Given the description of an element on the screen output the (x, y) to click on. 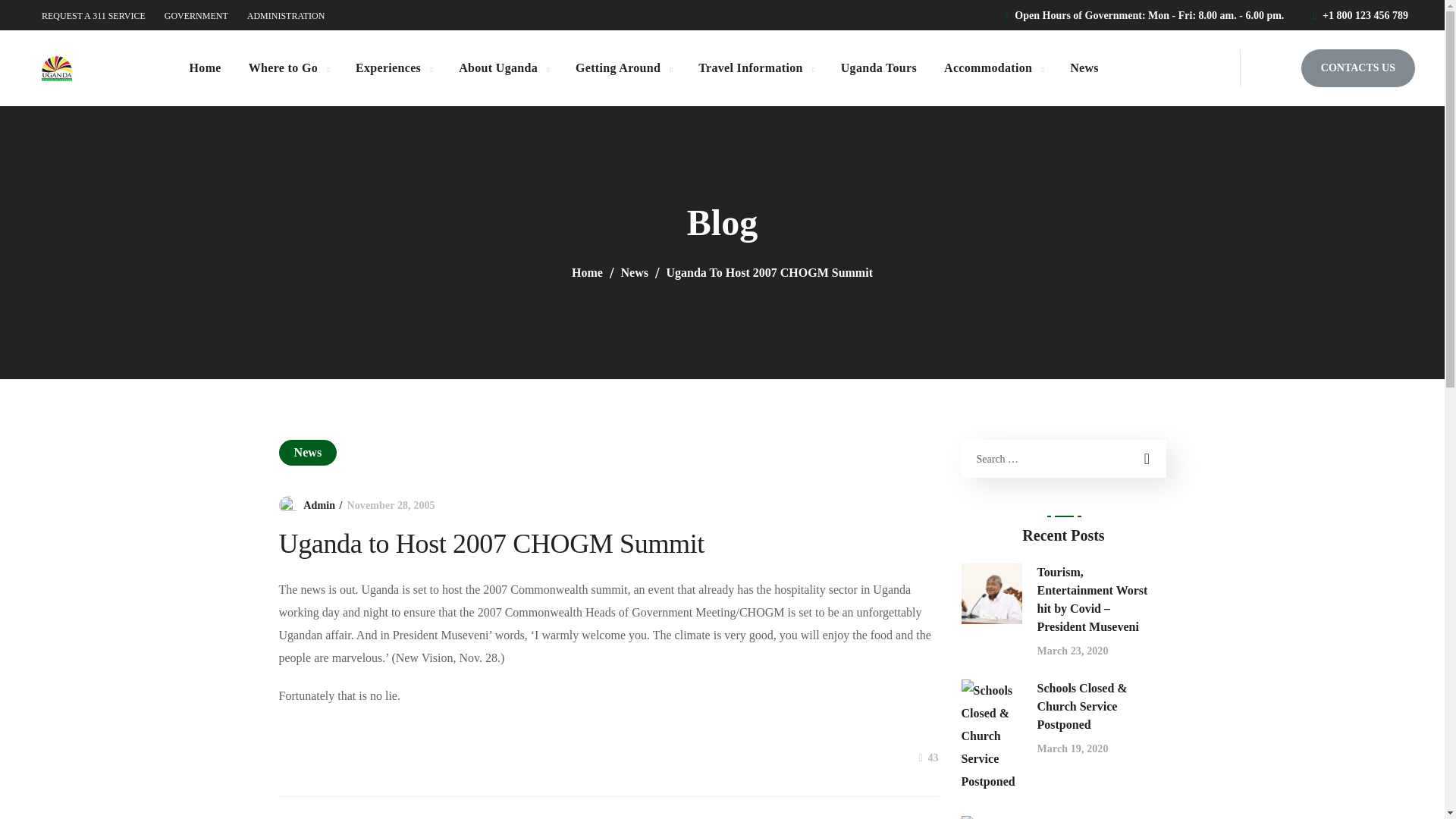
REQUEST A 311 SERVICE (93, 15)
GOVERNMENT (196, 15)
Getting Around (623, 68)
ADMINISTRATION (285, 15)
About Uganda (503, 68)
Experiences (393, 68)
Where to Go (288, 68)
